Given the description of an element on the screen output the (x, y) to click on. 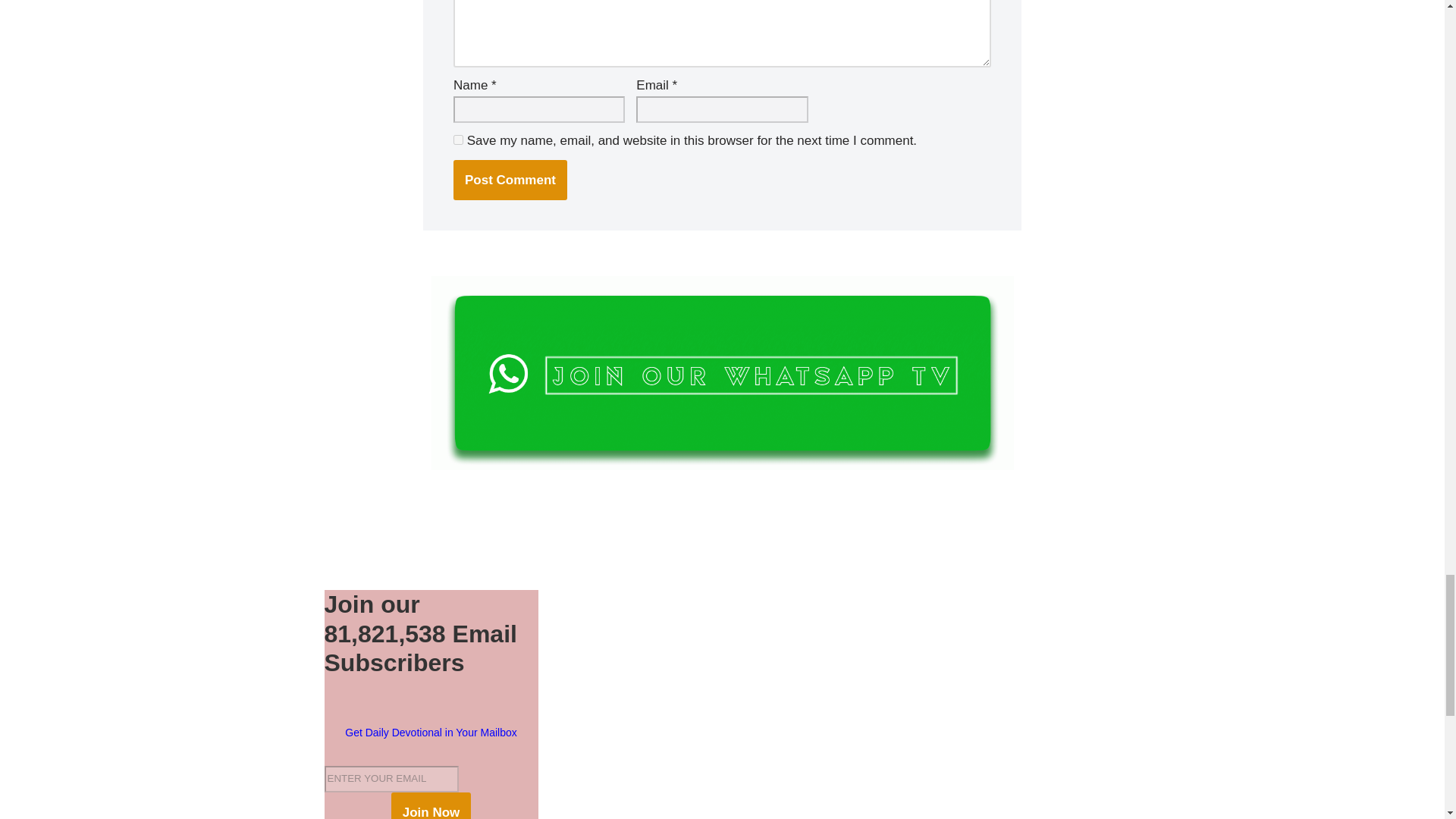
yes (457, 139)
Post Comment (509, 179)
Post Comment (509, 179)
